Given the description of an element on the screen output the (x, y) to click on. 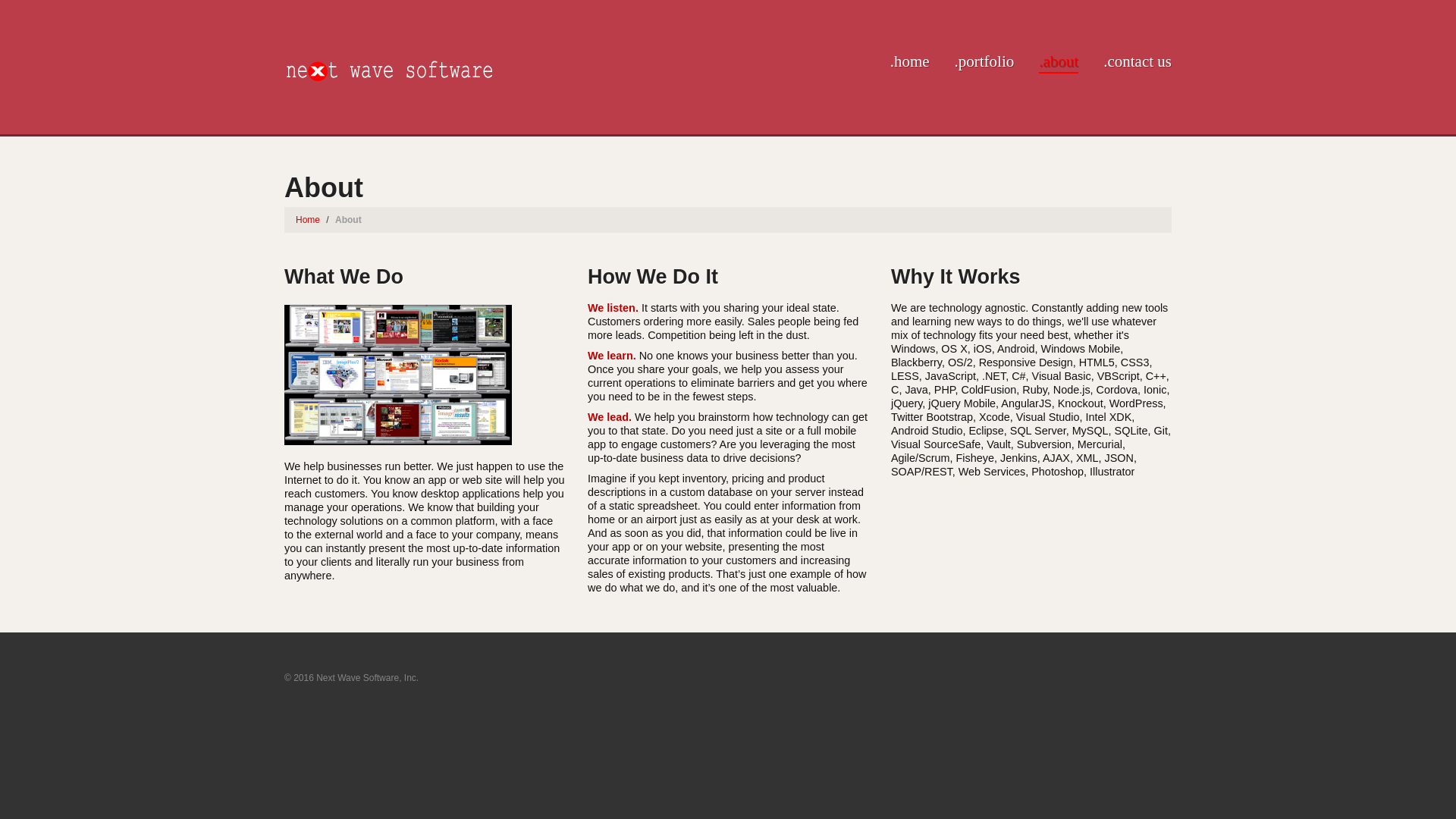
about (1058, 62)
Home (307, 219)
home (909, 62)
portfolio (984, 62)
Way more than cool sites. (389, 68)
contact us (1137, 62)
